Given the description of an element on the screen output the (x, y) to click on. 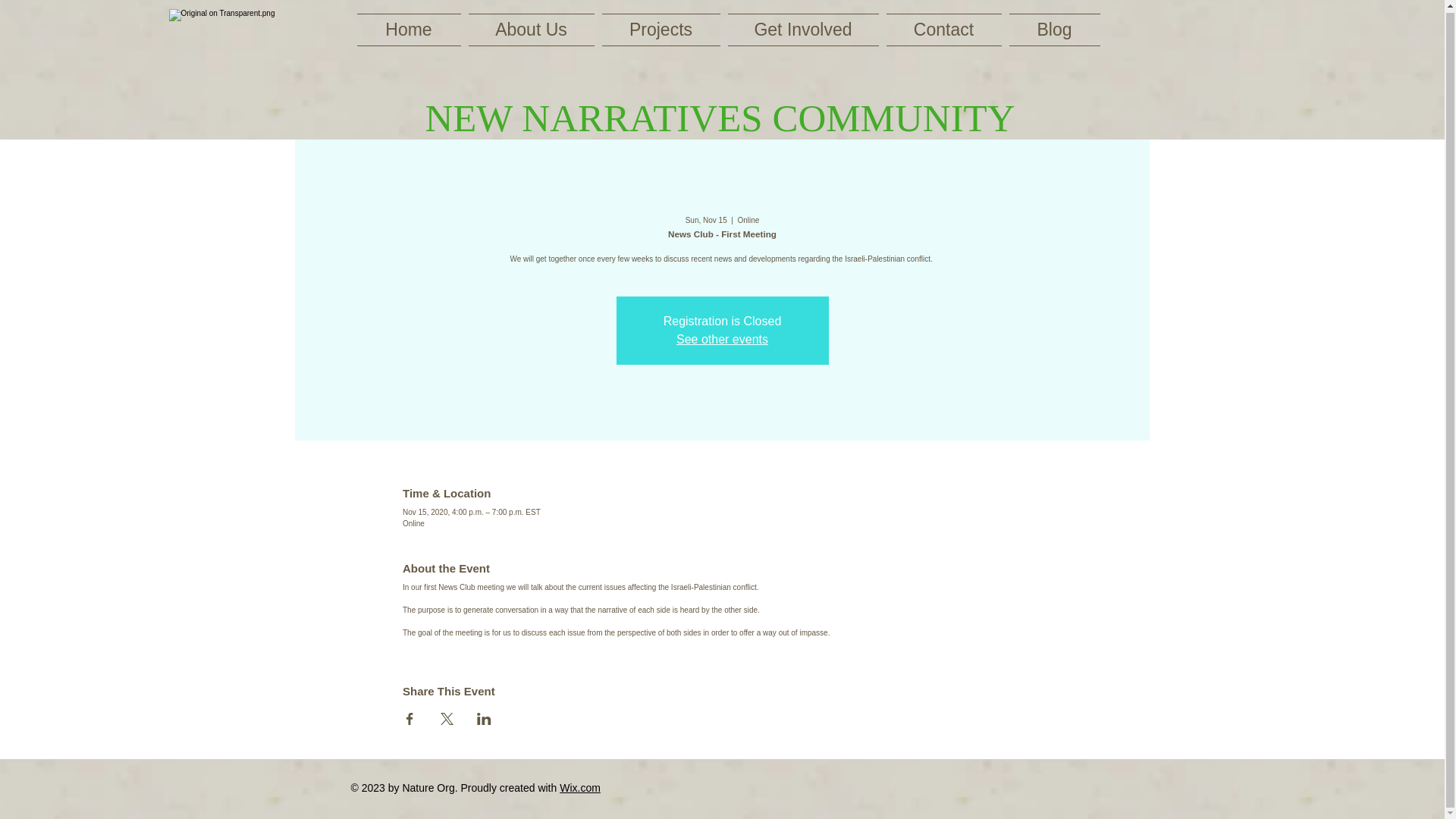
Contact (944, 29)
Projects (659, 29)
Get Involved (802, 29)
About Us (530, 29)
See other events (722, 338)
Blog (1053, 29)
Wix.com (579, 787)
Home (410, 29)
